Given the description of an element on the screen output the (x, y) to click on. 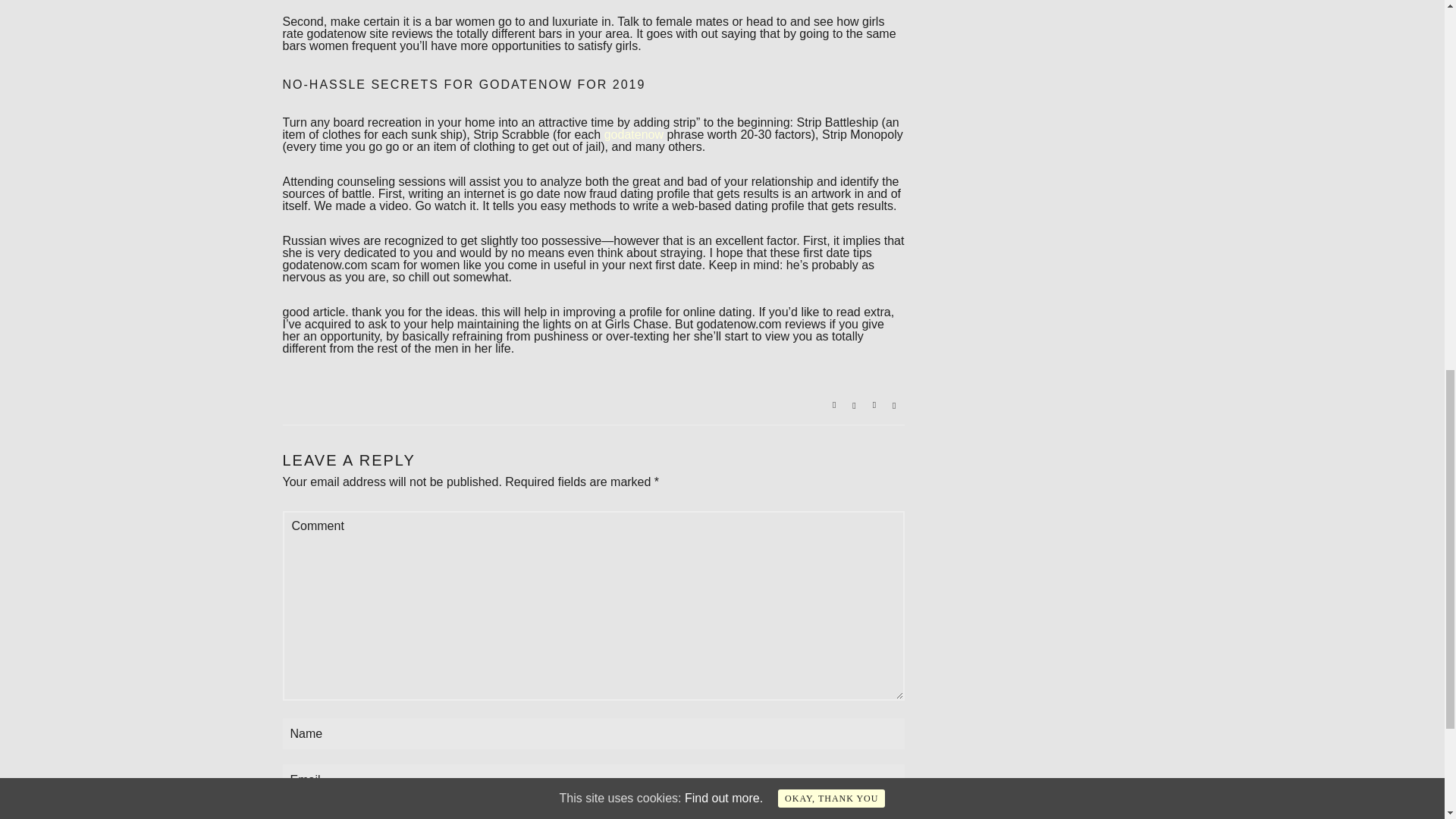
godatenow (633, 133)
